Given the description of an element on the screen output the (x, y) to click on. 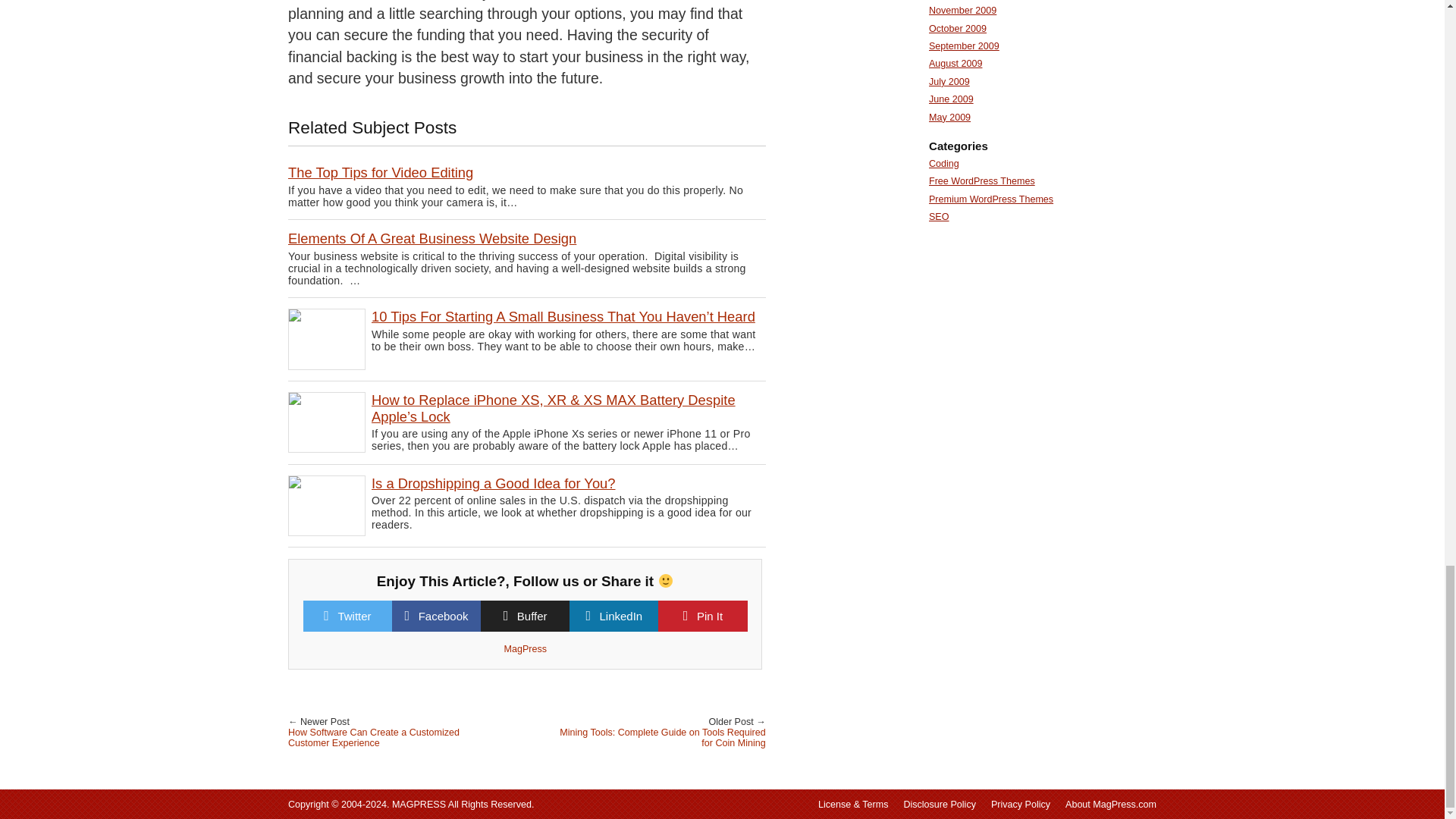
Buffer (531, 615)
The Top Tips for Video Editing (380, 172)
Elements Of A Great Business Website Design (432, 238)
Facebook (443, 615)
Is a Dropshipping a Good Idea for You? (493, 483)
Twitter (354, 615)
